Given the description of an element on the screen output the (x, y) to click on. 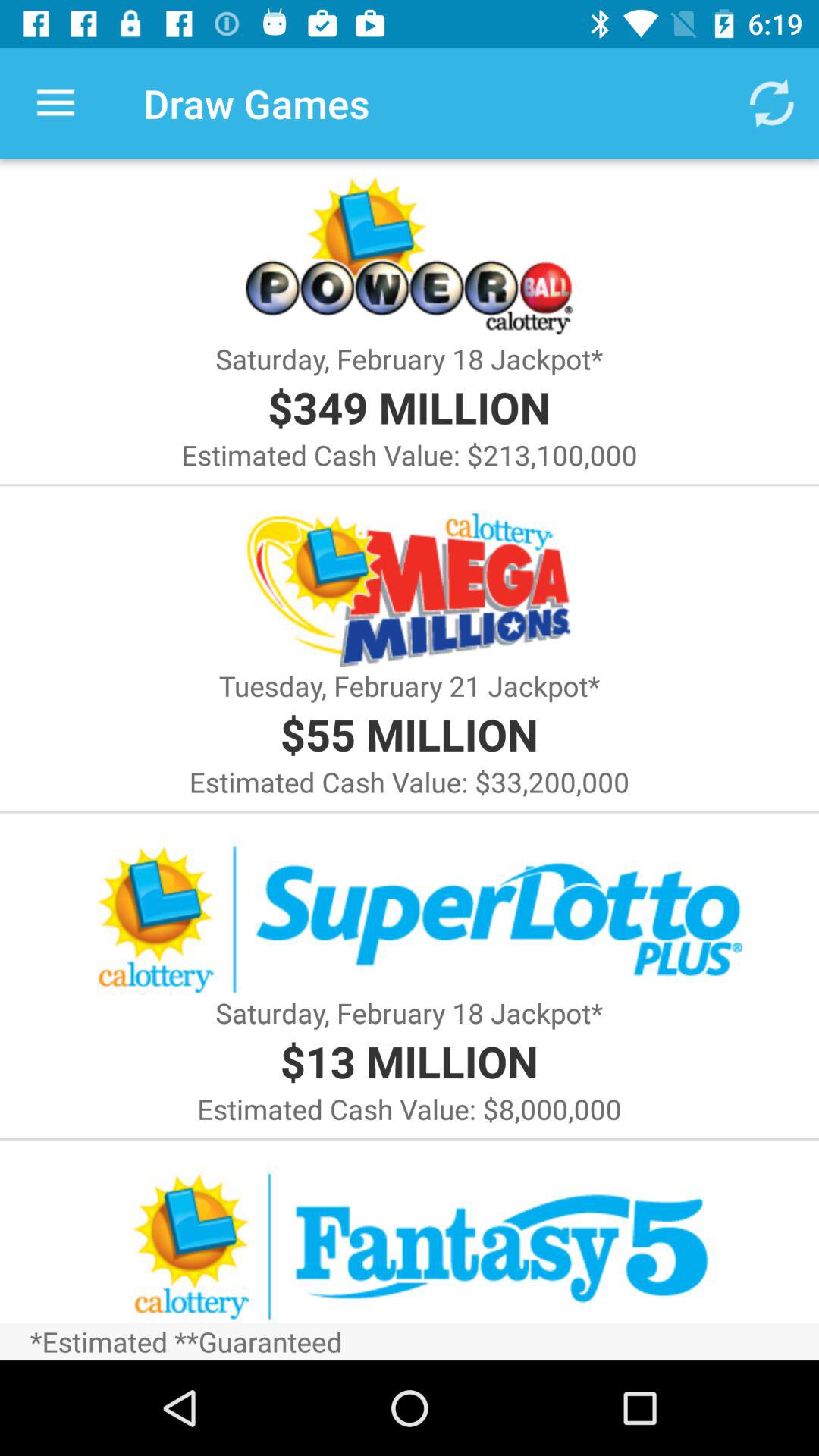
press the icon above estimated cash value icon (409, 733)
